Given the description of an element on the screen output the (x, y) to click on. 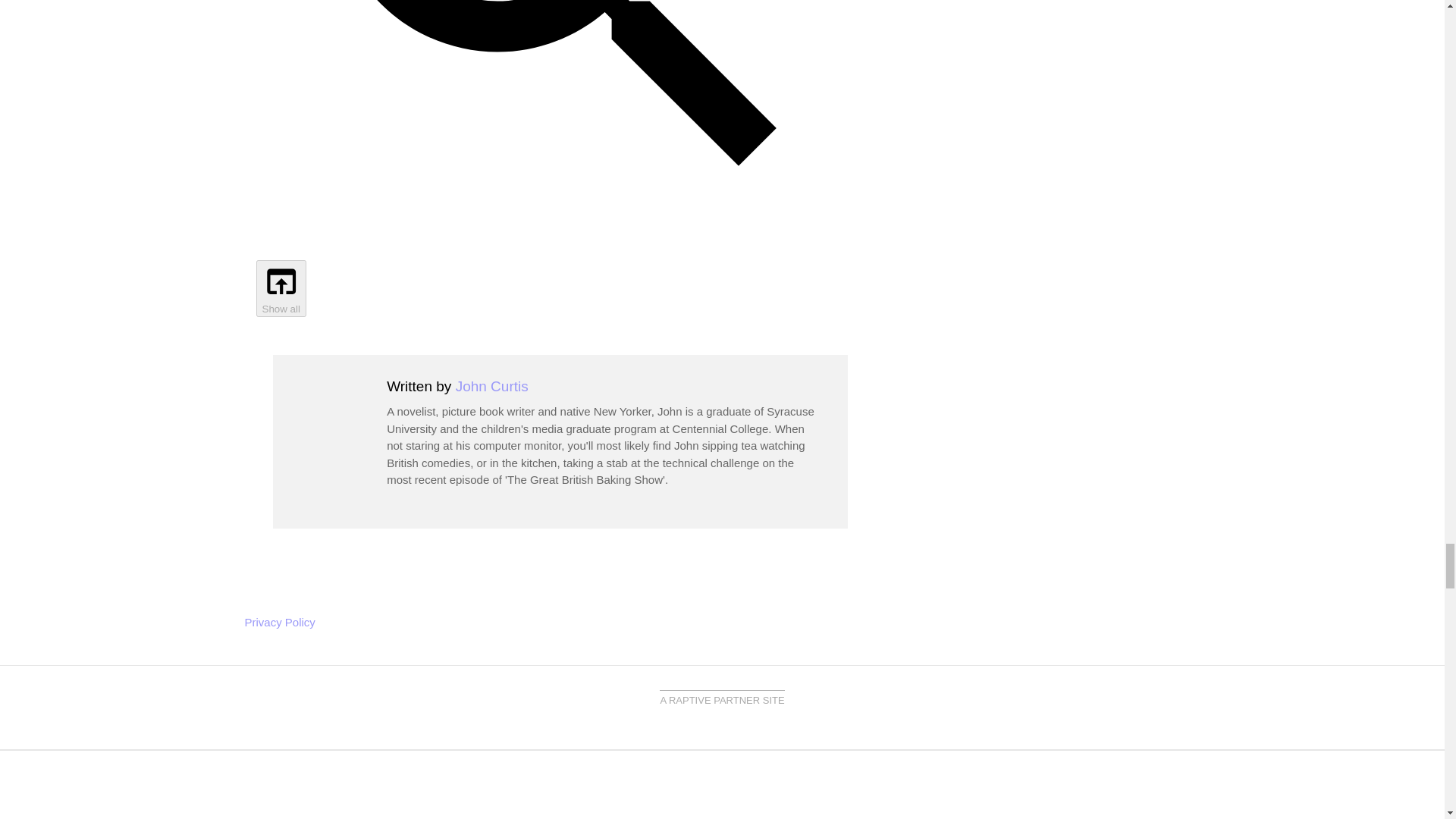
John Curtis (491, 385)
